Given the description of an element on the screen output the (x, y) to click on. 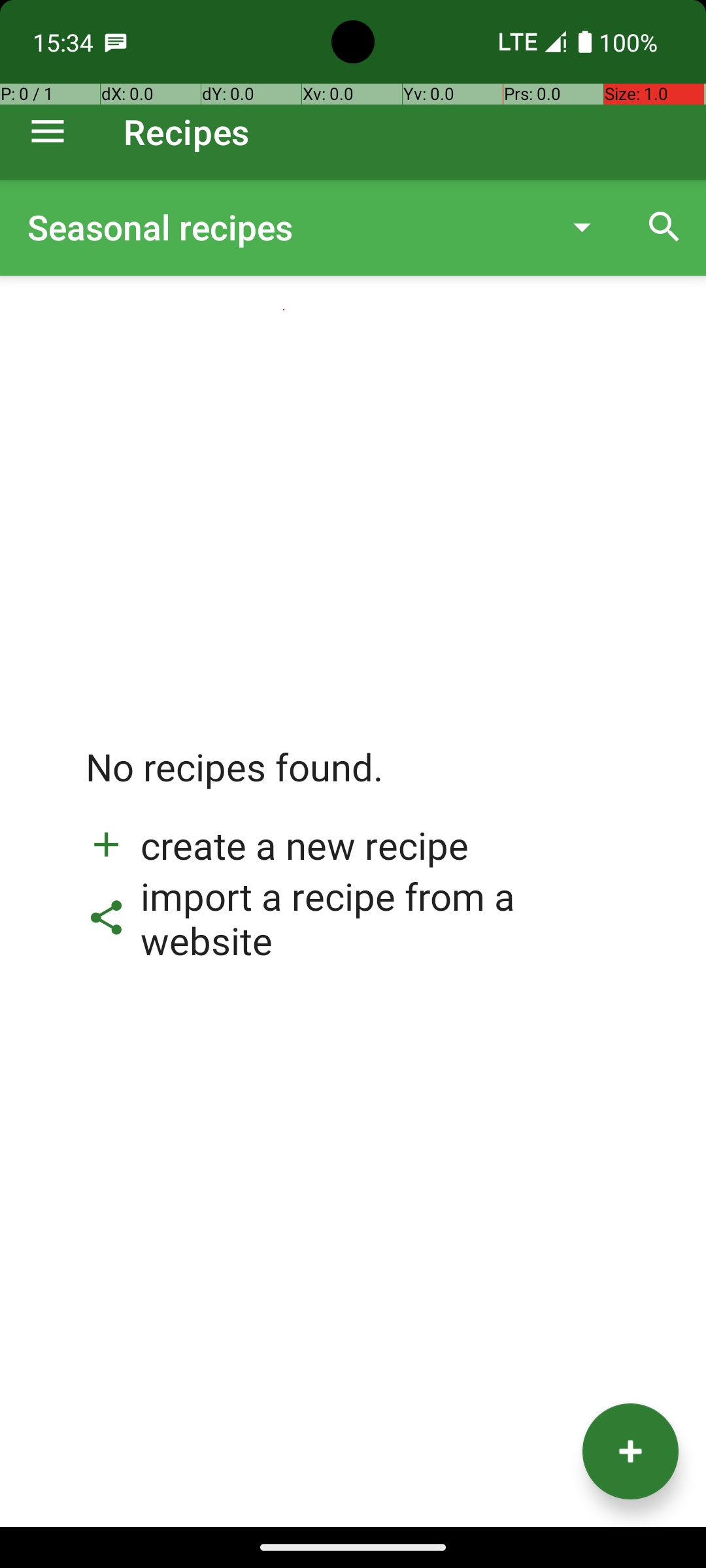
No recipes found. Element type: android.widget.TextView (234, 779)
create a new recipe Element type: android.widget.TextView (276, 844)
import a recipe from a website Element type: android.widget.TextView (352, 917)
